Given the description of an element on the screen output the (x, y) to click on. 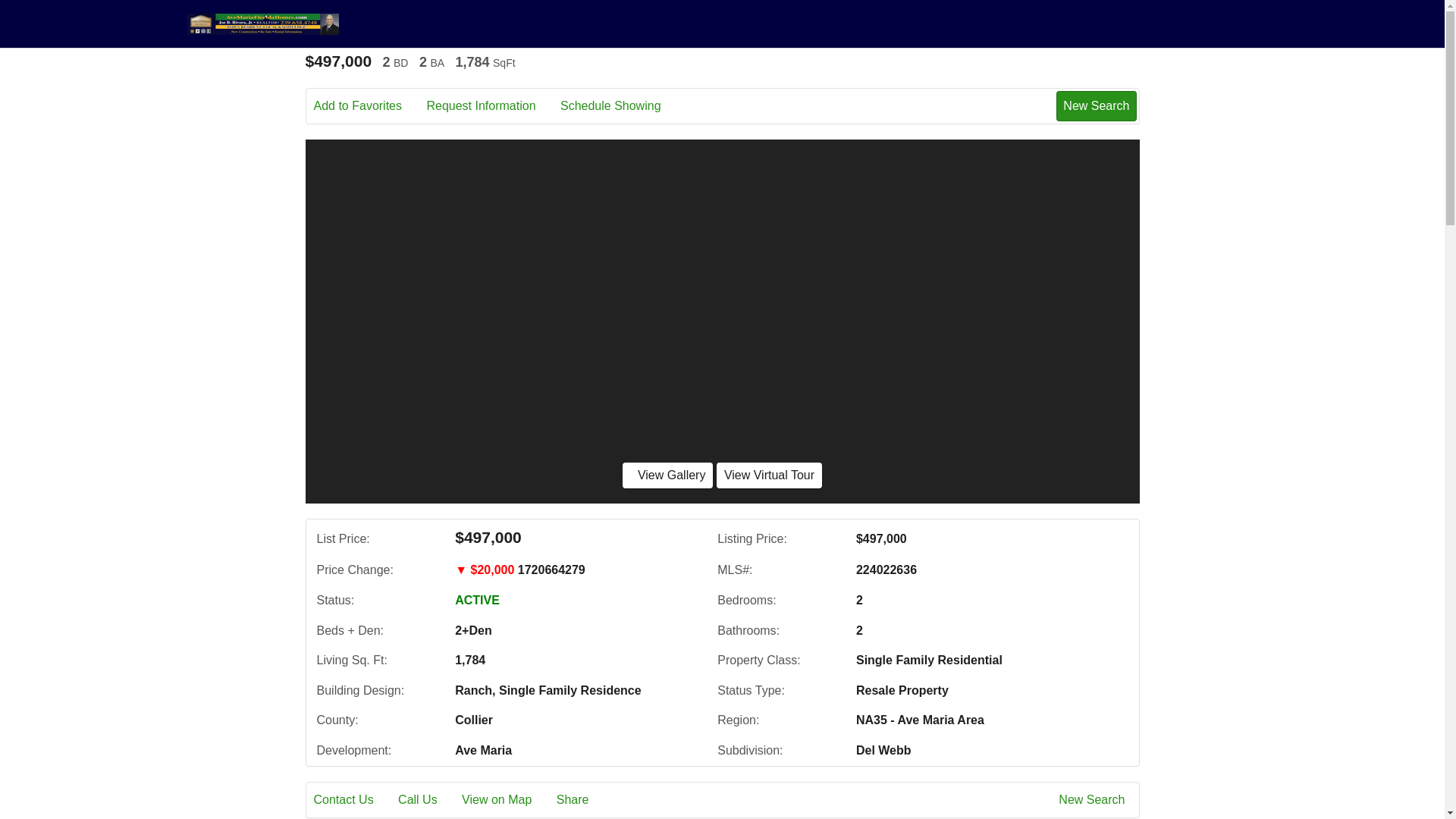
Share (583, 799)
Request Information (491, 106)
New Search (1096, 105)
Contact Us (354, 799)
New Search (1094, 799)
View Gallery (668, 474)
Add to Favorites (368, 106)
View on Map (507, 799)
Call Us (427, 799)
Schedule Showing (621, 106)
View Virtual Tour (769, 474)
View Gallery (668, 475)
View Virtual Tour (769, 475)
